Given the description of an element on the screen output the (x, y) to click on. 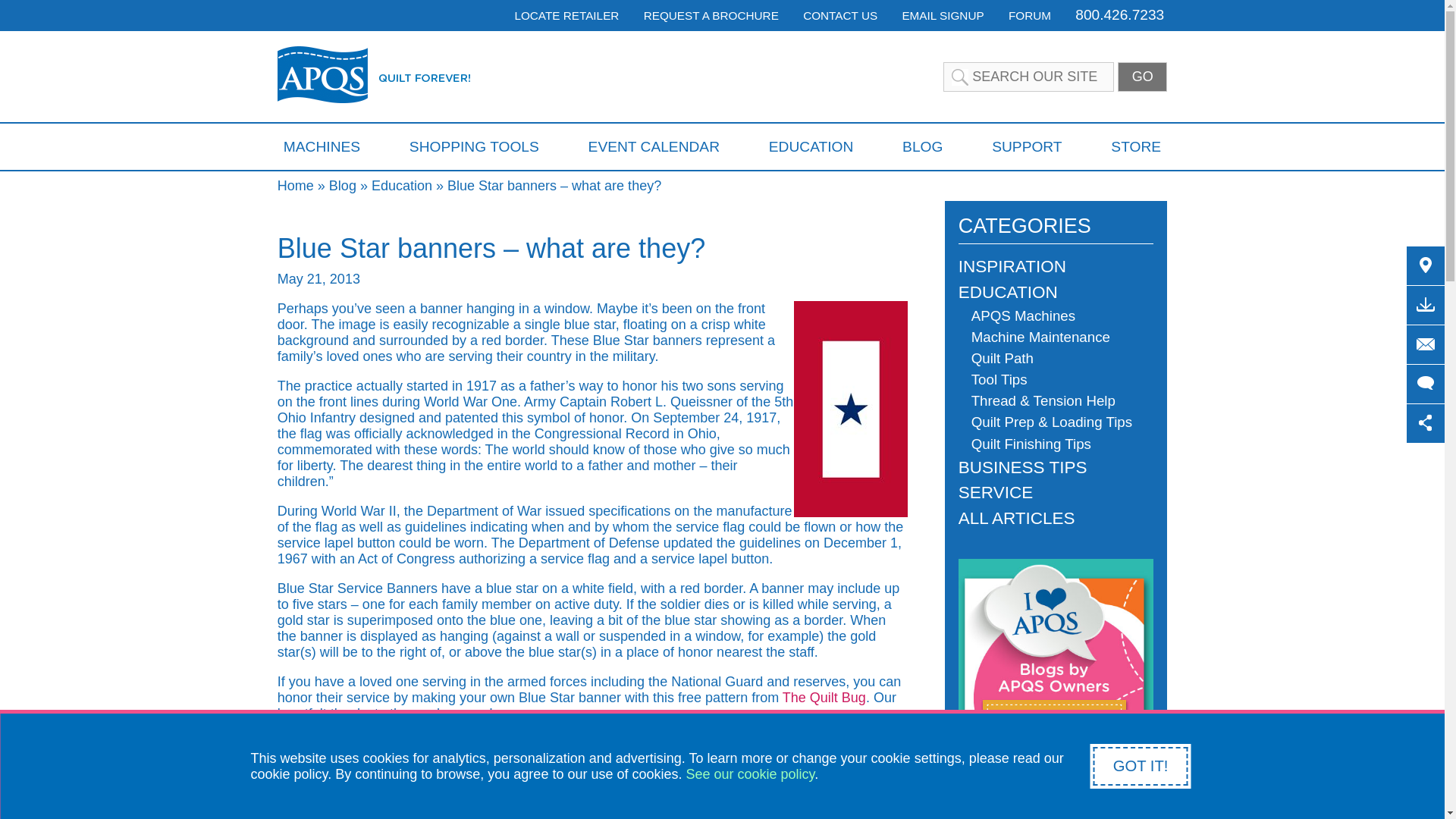
800.426.7233 (1119, 14)
REQUEST A BROCHURE (710, 15)
GO (1142, 76)
EMAIL SIGNUP (942, 15)
CONTACT US (839, 15)
EDUCATION (811, 146)
FORUM (1030, 15)
MACHINES (322, 146)
EVENT CALENDAR (653, 146)
LOCATE RETAILER (566, 15)
